Given the description of an element on the screen output the (x, y) to click on. 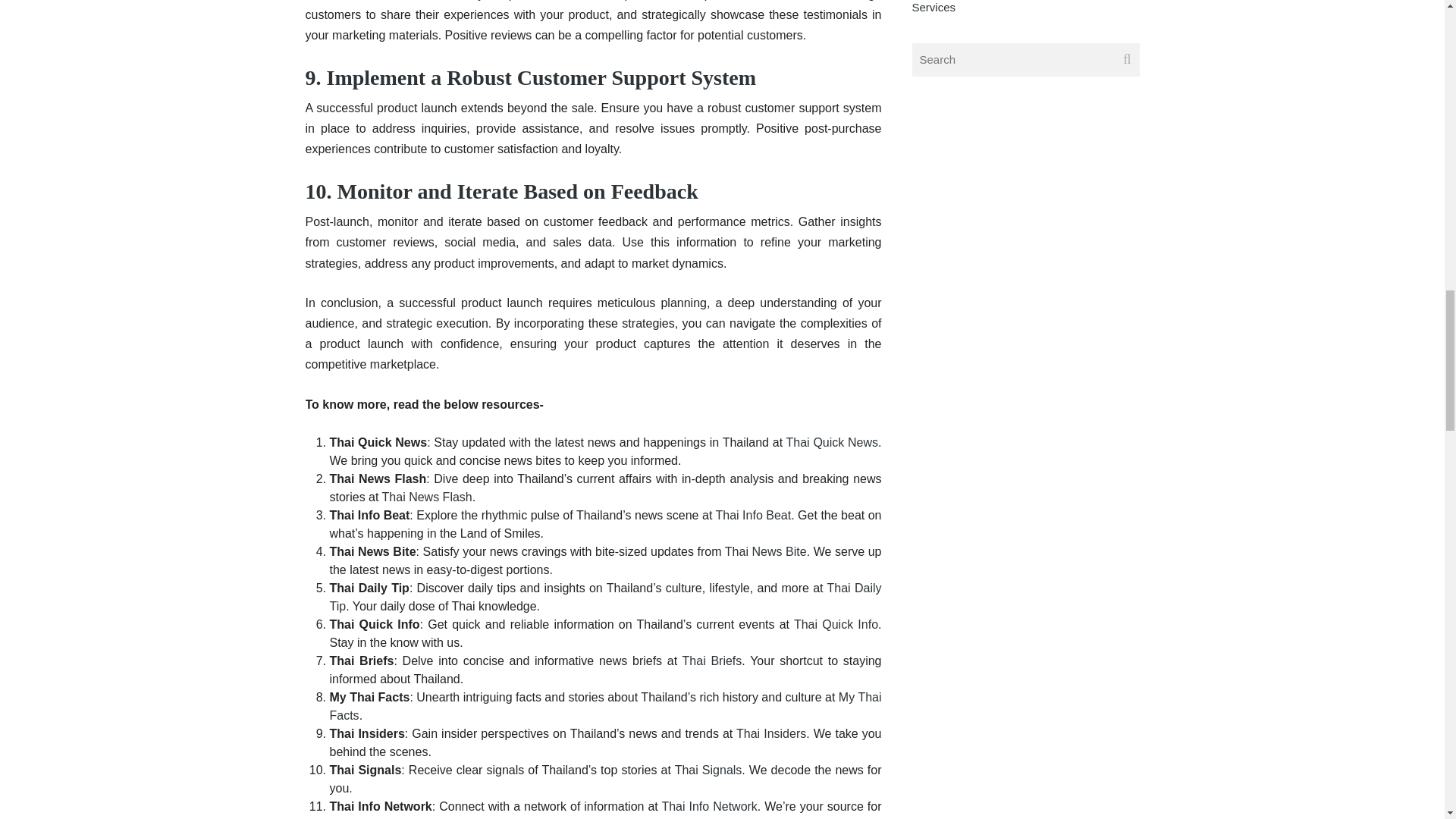
Thai Daily Tip (604, 596)
Thai Quick Info (835, 624)
Thai Briefs (712, 660)
Thai Quick News (832, 441)
Thai News Flash (426, 496)
Thai News Bite (765, 551)
Thai Info Beat (754, 514)
